Given the description of an element on the screen output the (x, y) to click on. 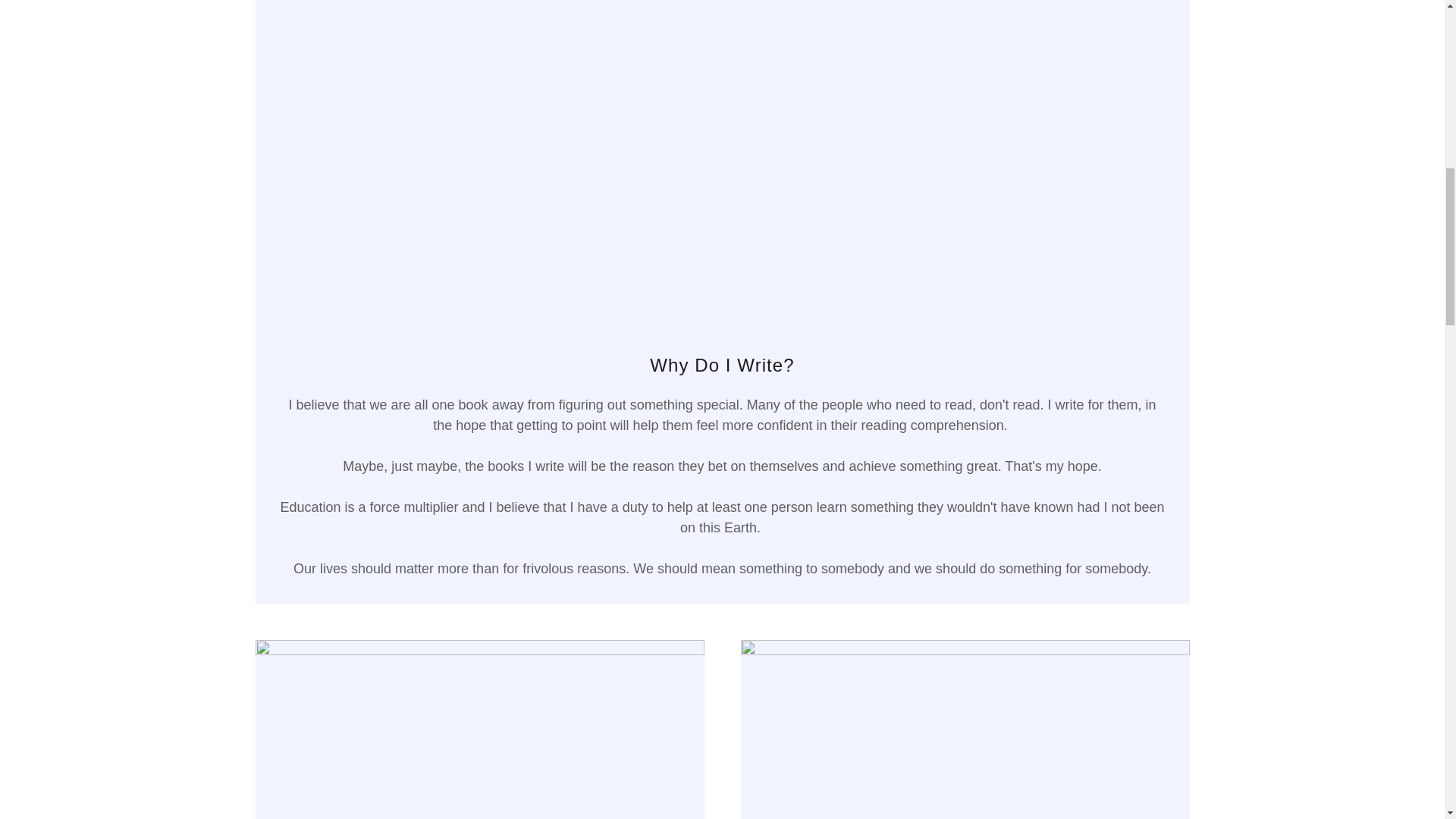
ACCEPT (1274, 324)
